Given the description of an element on the screen output the (x, y) to click on. 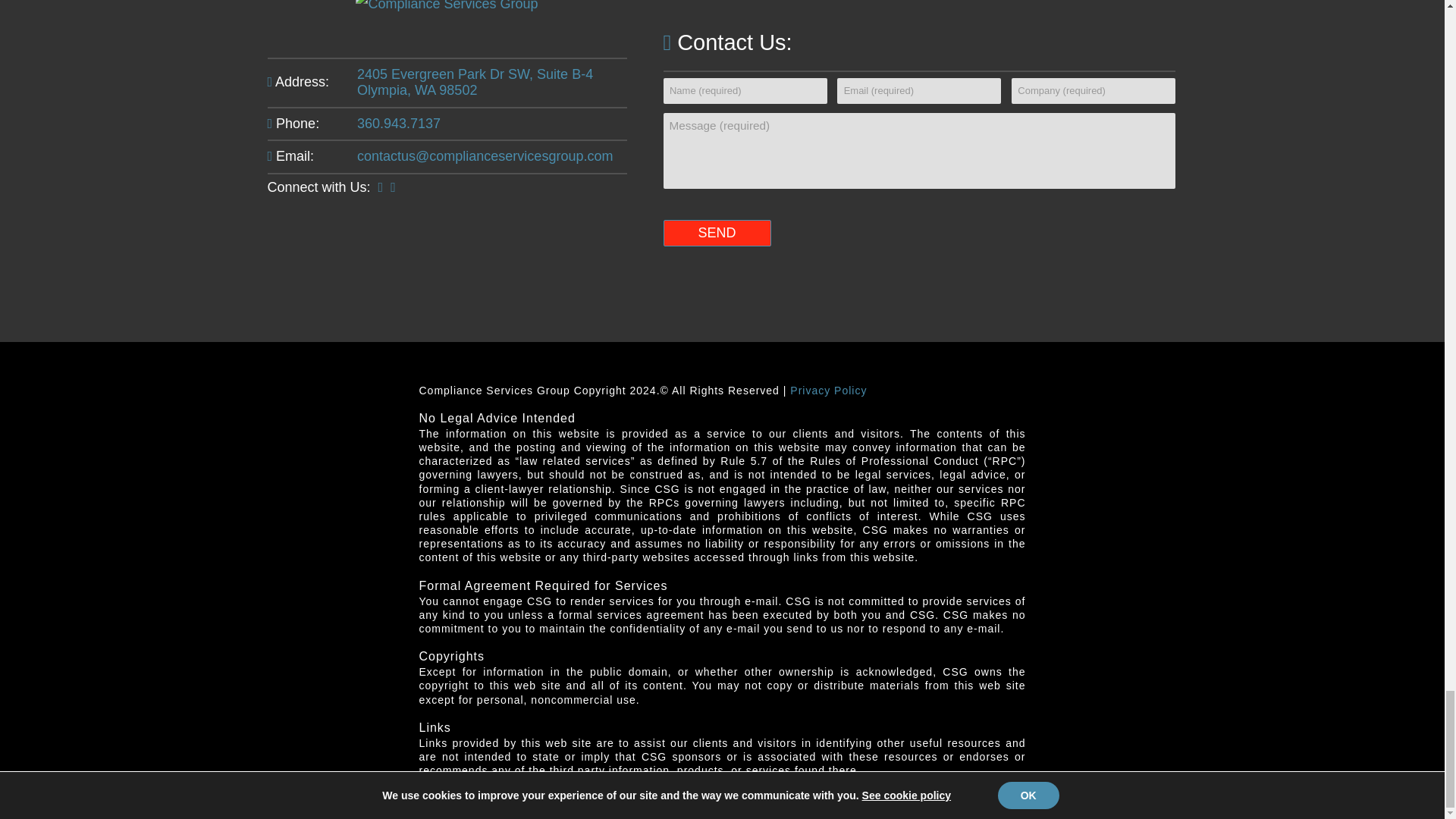
Facebook (381, 186)
LinkedIn (393, 186)
Send (716, 232)
